Given the description of an element on the screen output the (x, y) to click on. 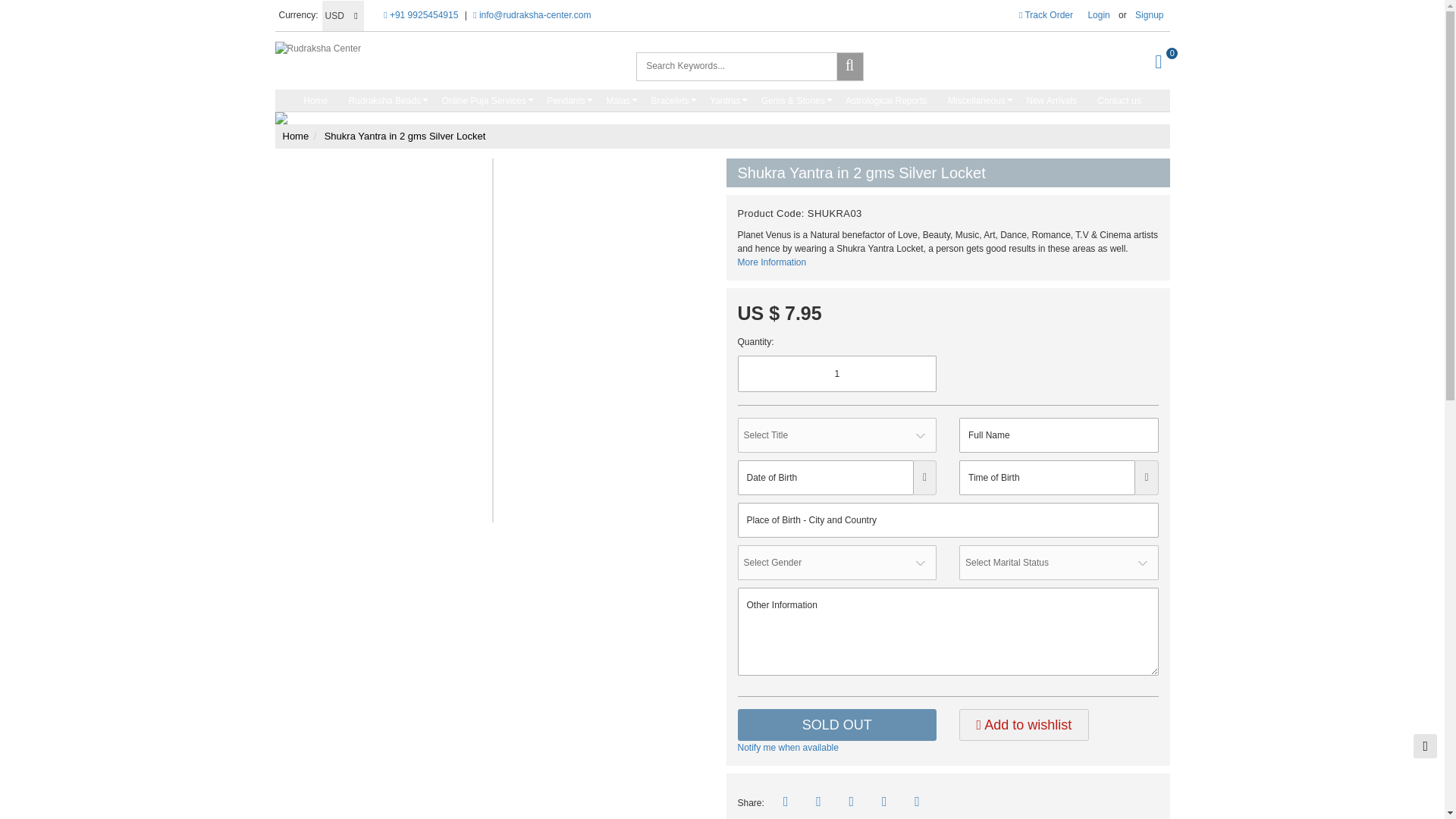
Login (1098, 15)
Please select title (836, 434)
Please enter full name (1058, 434)
Signup (1149, 15)
Add to wishlist (1024, 725)
1 (836, 373)
Please select gender (836, 562)
Home (416, 48)
Track Order (1045, 15)
Please select marital status (1058, 562)
Please enter other information (946, 631)
Please enter place of birth (946, 519)
Rudraksha Beads (384, 100)
Home (315, 100)
Please enter date of birth (824, 477)
